Given the description of an element on the screen output the (x, y) to click on. 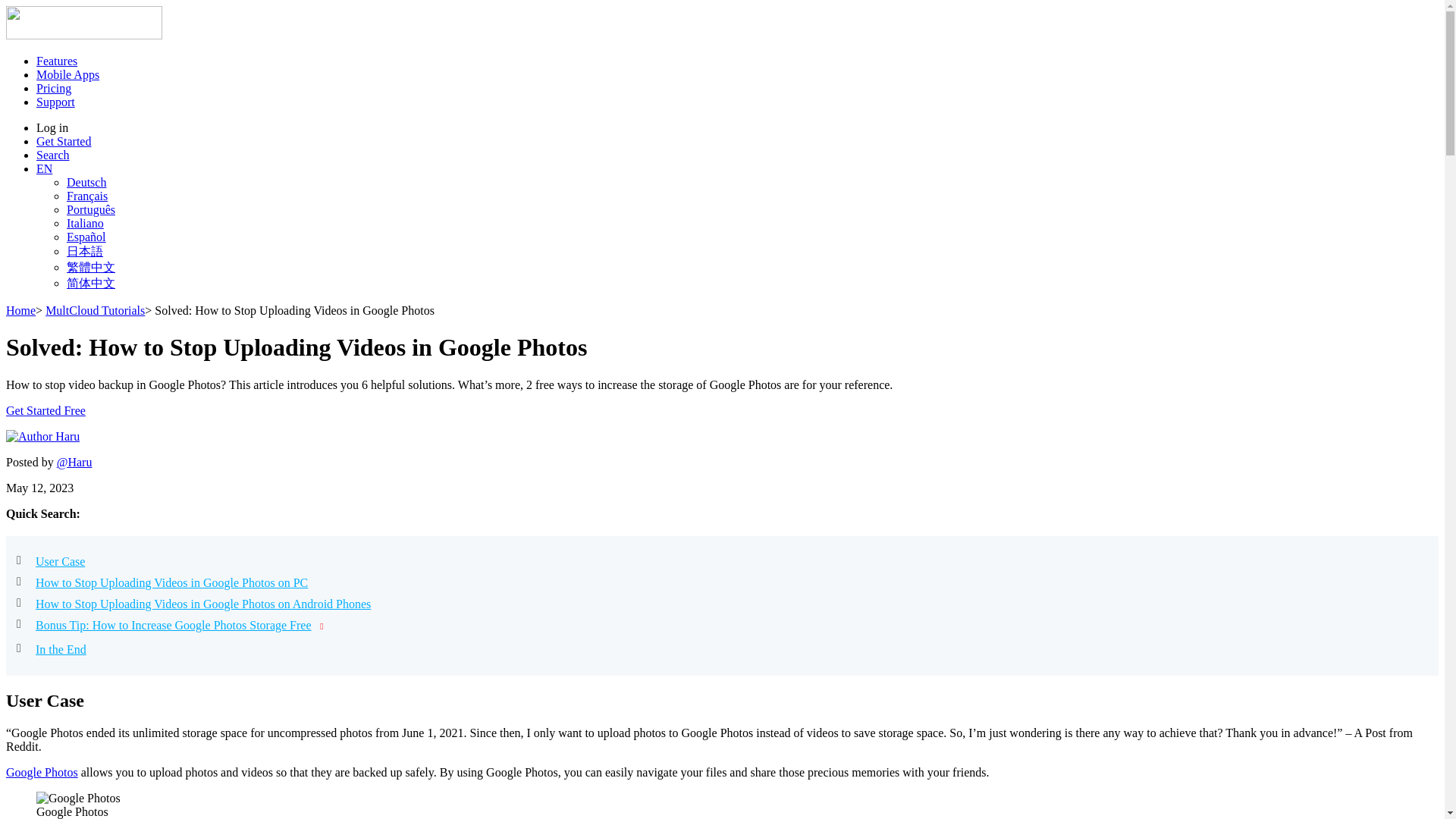
Google Photos (41, 771)
Italiano (84, 223)
Log in (52, 127)
In the End (59, 649)
Get Started Free (45, 410)
EN (44, 168)
Deutsch (86, 182)
Bonus Tip: How to Increase Google Photos Storage Free (172, 625)
User Case (59, 561)
Support (55, 101)
Google Photos (41, 771)
Get Started (63, 141)
How to Stop Uploading Videos in Google Photos on PC (170, 582)
Home (19, 309)
MultCloud Tutorials (94, 309)
